Given the description of an element on the screen output the (x, y) to click on. 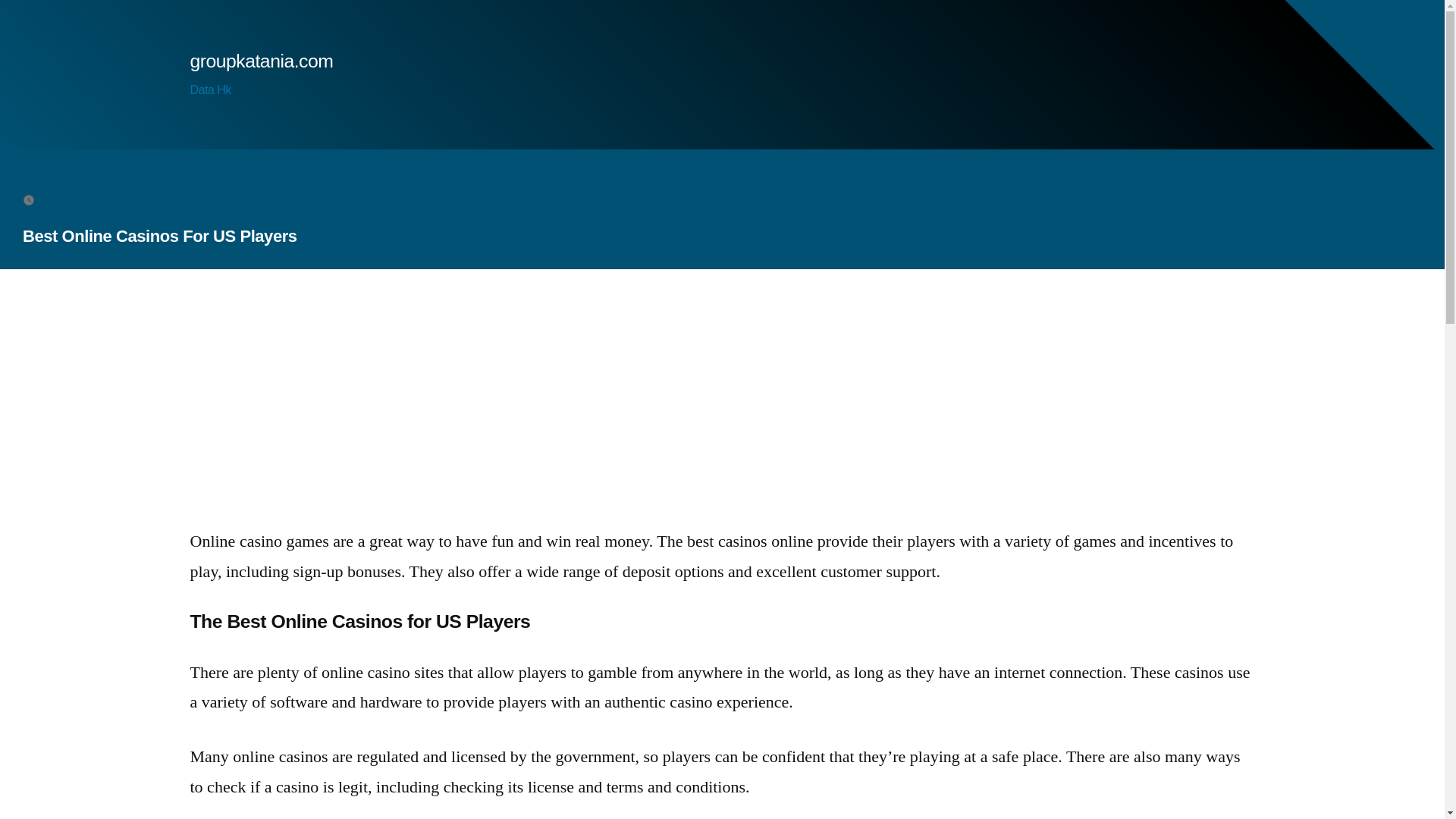
groupkatania.com (261, 60)
April 19, 2023 (76, 198)
Data Hk (209, 89)
